Given the description of an element on the screen output the (x, y) to click on. 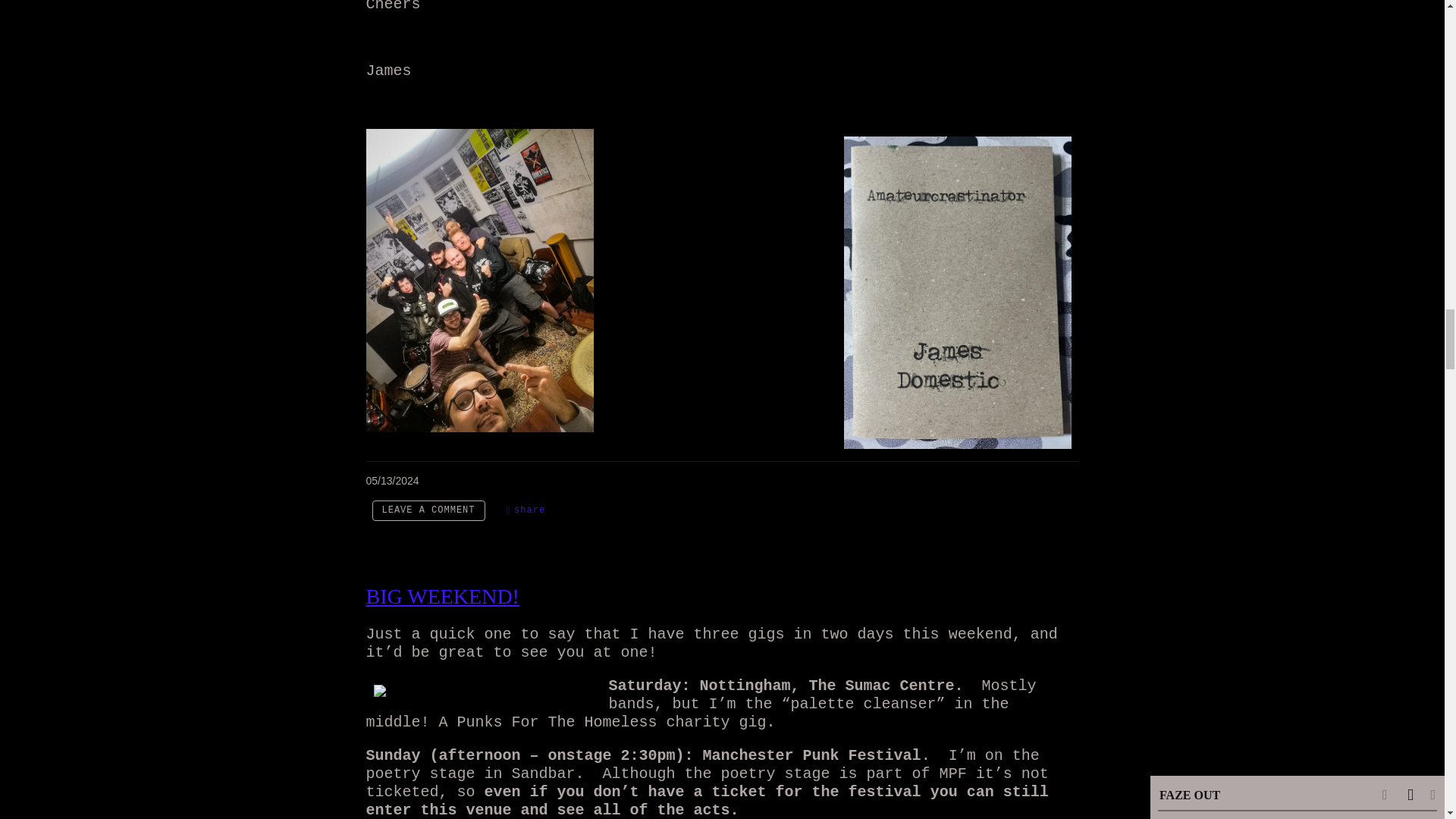
Share NEW BOOK! GIGS! THE BASQUE COUNTRY! NORWICH! (525, 510)
May 13, 2024 17:35 (392, 480)
Leave a comment (427, 510)
